Given the description of an element on the screen output the (x, y) to click on. 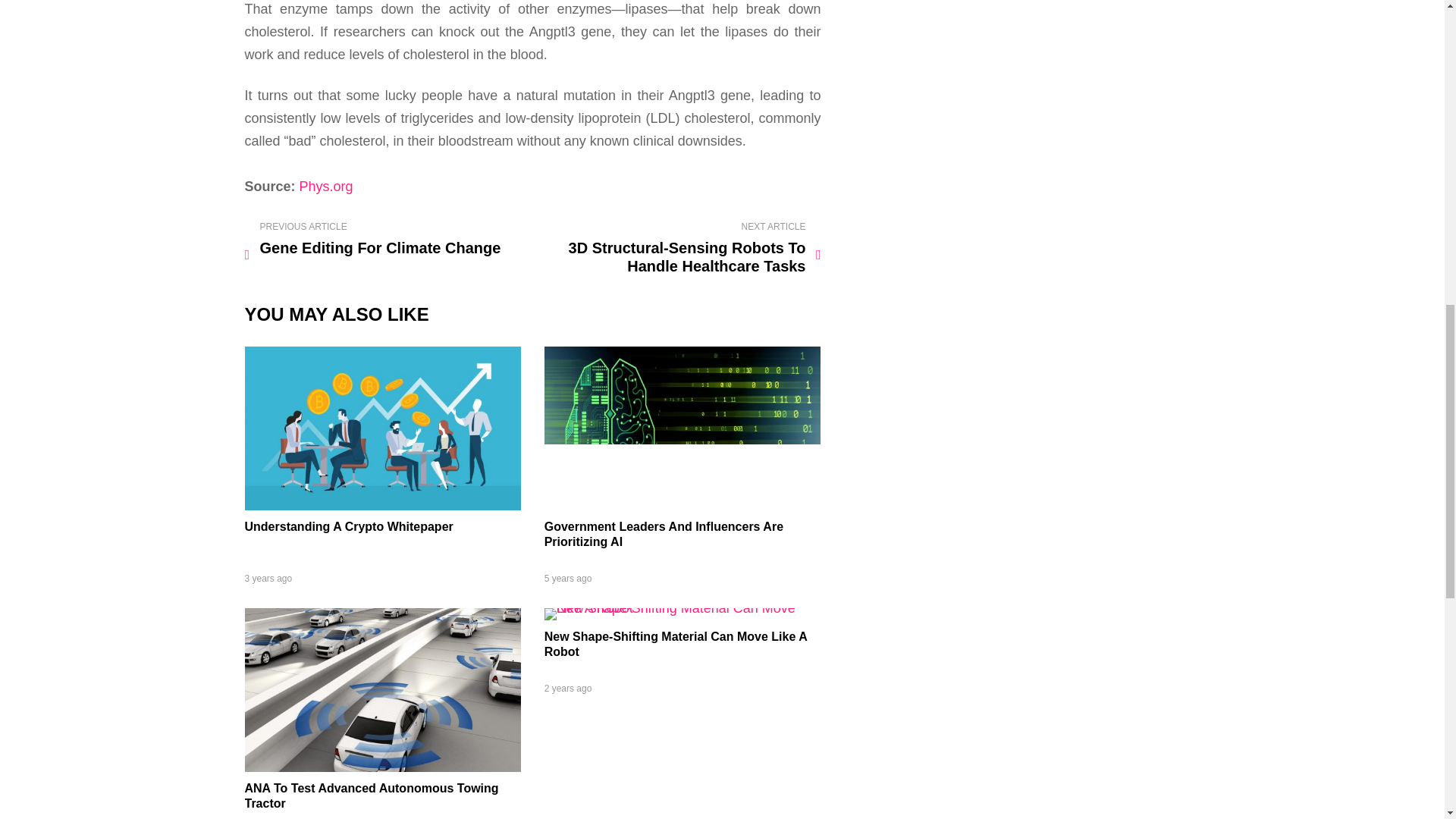
ANA To Test Advanced Autonomous Towing Tractor (370, 795)
3D Structural-Sensing Robots To Handle Healthcare Tasks (679, 248)
Gene Editing For Climate Change (384, 239)
Understanding A Crypto Whitepaper (382, 505)
ANA To Test Advanced Autonomous Towing Tractor (382, 767)
Government Leaders And Influencers Are Prioritizing AI (663, 533)
Government Leaders And Influencers Are Prioritizing AI (682, 505)
New Shape-Shifting Material Can Move Like A Robot (675, 643)
New Shape-Shifting Material Can Move Like A Robot (682, 607)
Understanding A Crypto Whitepaper (348, 526)
